Given the description of an element on the screen output the (x, y) to click on. 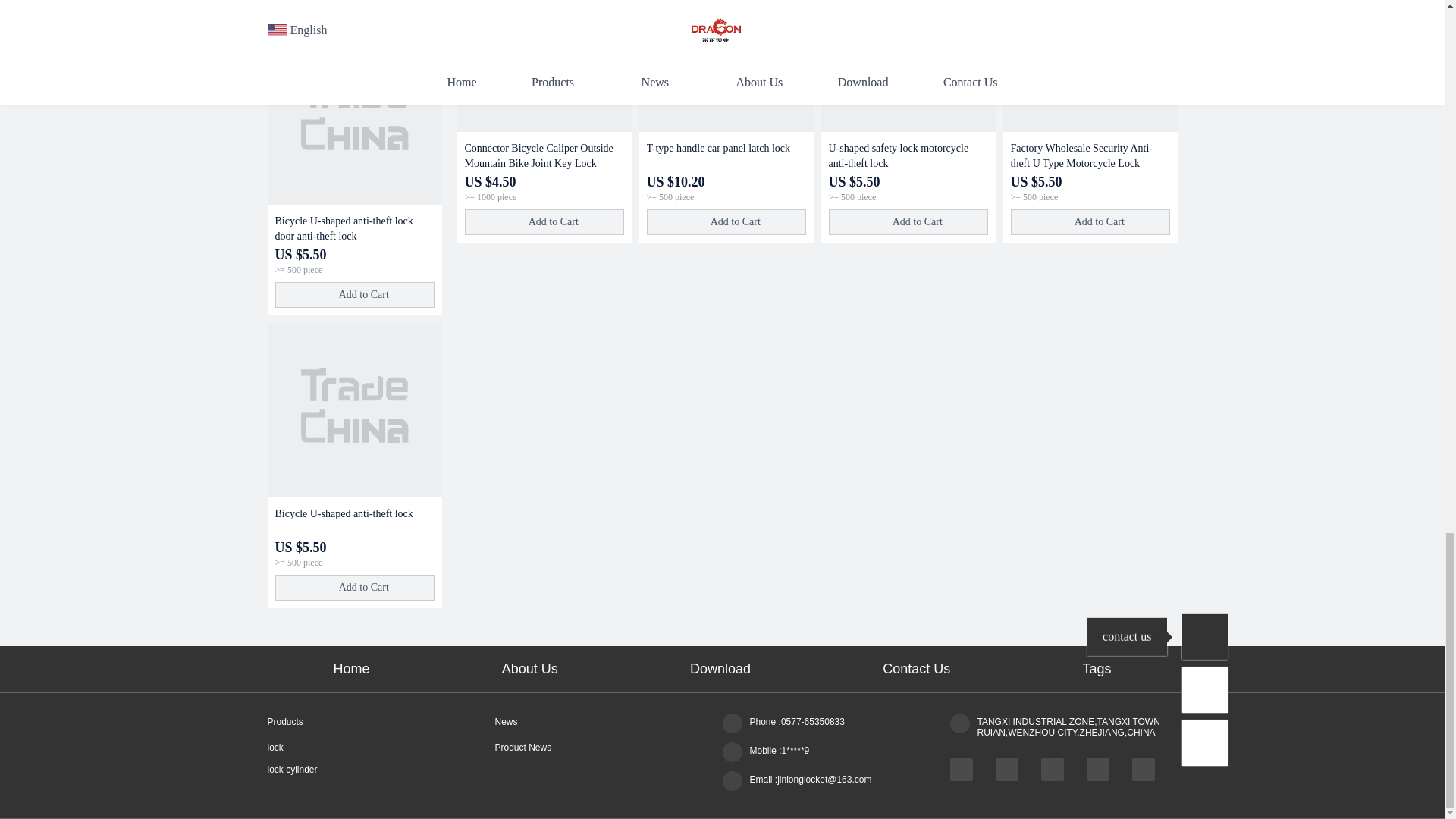
Bicycle U-shaped anti-theft lock (354, 521)
Bicycle U-shaped anti-theft lock door anti-theft lock (353, 117)
Bicycle U-shaped anti-theft lock (353, 409)
T-type handle car panel latch lock (725, 65)
Bicycle U-shaped anti-theft lock door anti-theft lock (354, 228)
Factory Wholesale Security Anti-theft U Type Motorcycle Lock (1089, 155)
T-type handle car panel latch lock (725, 155)
U-shaped safety lock motorcycle anti-theft lock (907, 65)
U-shaped safety lock motorcycle anti-theft lock (907, 155)
Factory Wholesale Security Anti-theft U Type Motorcycle Lock (1089, 65)
